Given the description of an element on the screen output the (x, y) to click on. 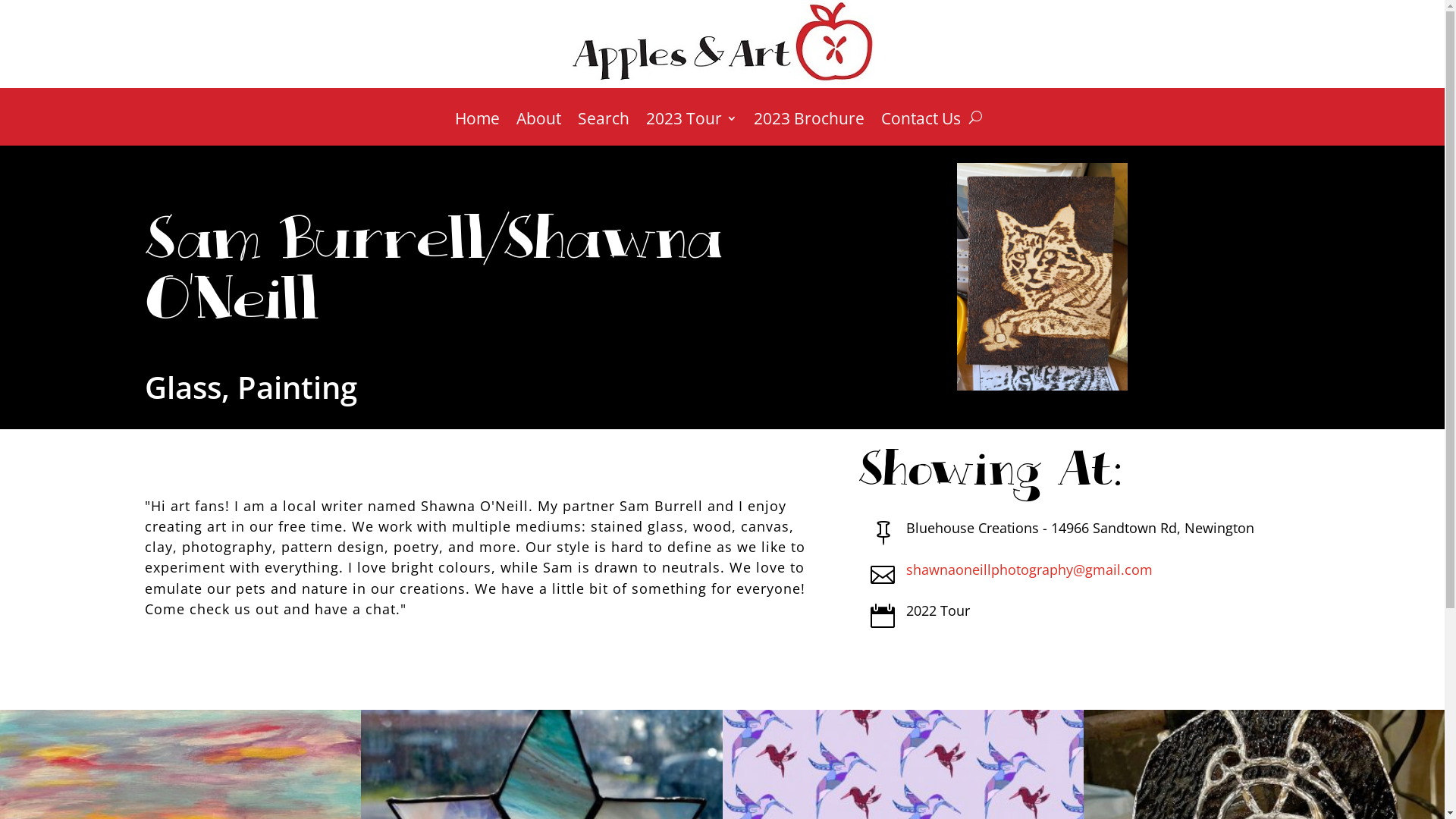
Bluehouse Creations - 14966 Sandtown Rd, Newington Element type: text (1080, 527)
Search Element type: text (603, 128)
2023 Tour Element type: text (691, 128)
Home Element type: text (477, 128)
apples and art LOGO-2 Element type: hover (721, 42)
shawnaoneillphotography@gmail.com Element type: text (1029, 569)
About Element type: text (537, 128)
Contact Us Element type: text (920, 128)
2023 Brochure Element type: text (808, 128)
Sam Burrell-Cookie the cat-Wood burning Element type: hover (1042, 276)
